Given the description of an element on the screen output the (x, y) to click on. 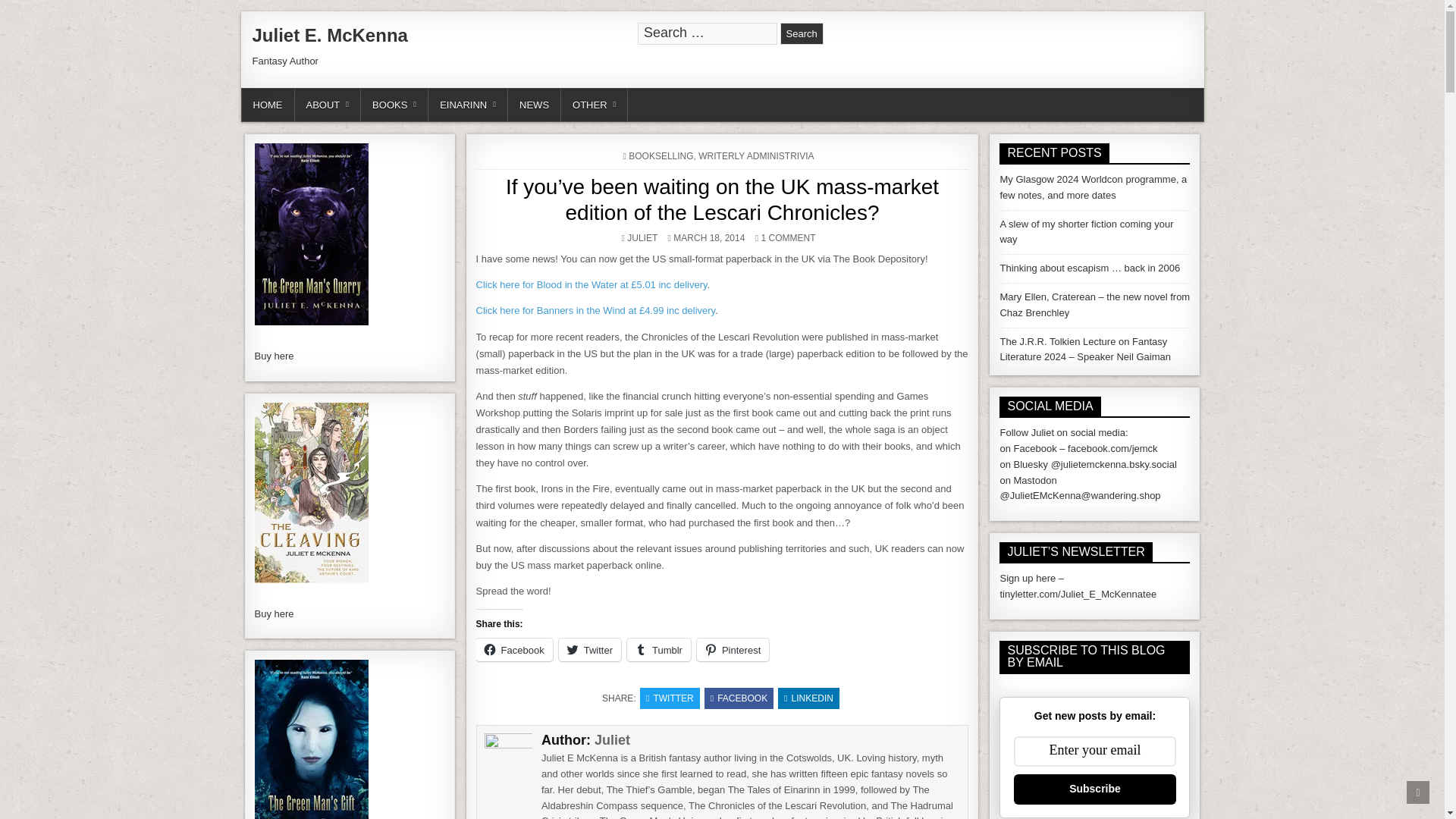
Share this on Linkedin (808, 698)
Scroll to Top (1417, 792)
BOOKS (394, 104)
ABOUT (327, 104)
Click to share on Pinterest (732, 649)
Search (802, 33)
Share this on Facebook (738, 698)
Scroll to Top (1417, 792)
Click to share on Tumblr (658, 649)
Juliet E. McKenna (329, 35)
